Given the description of an element on the screen output the (x, y) to click on. 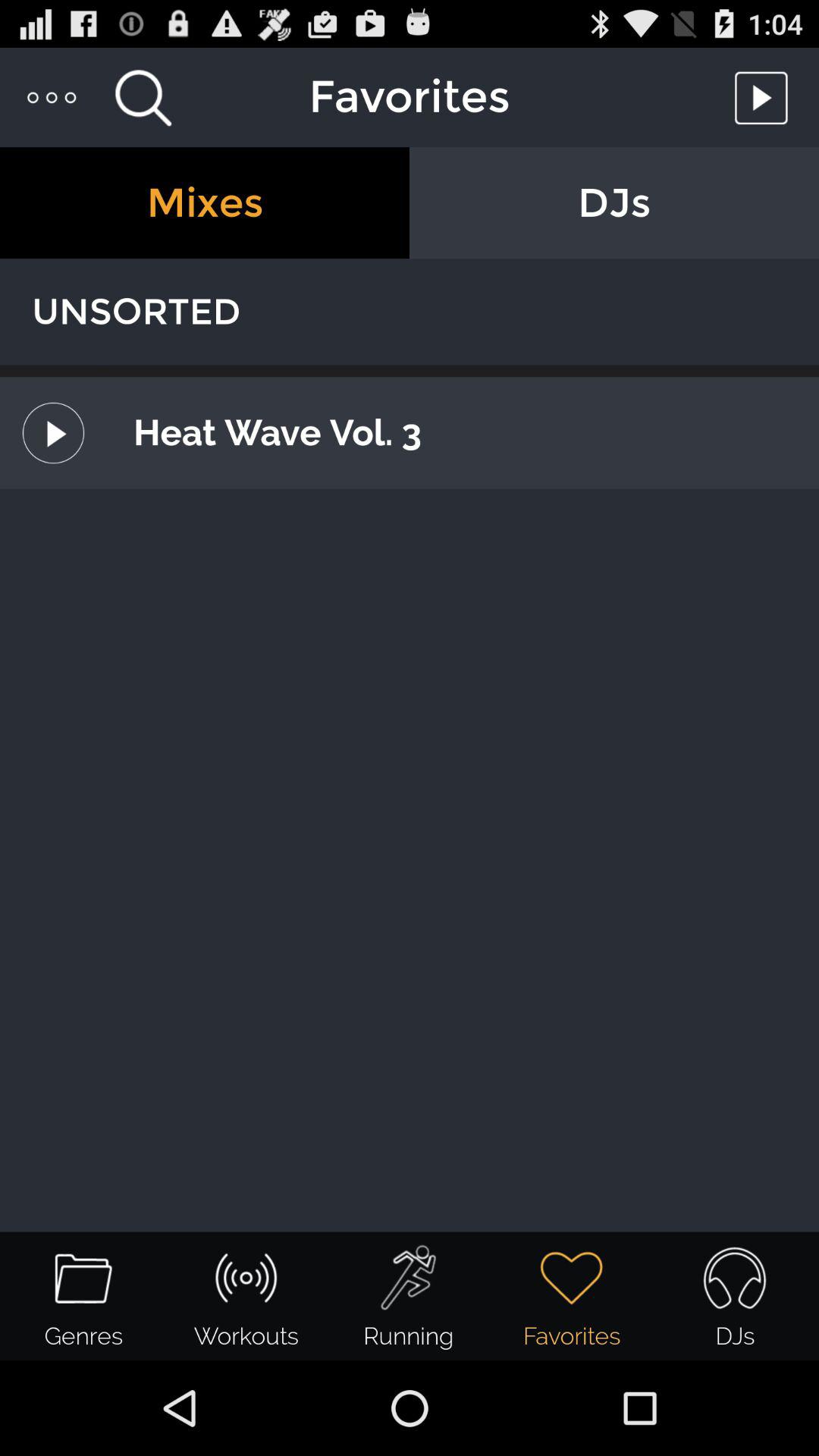
select icon to the left of heat wave vol item (53, 432)
